Given the description of an element on the screen output the (x, y) to click on. 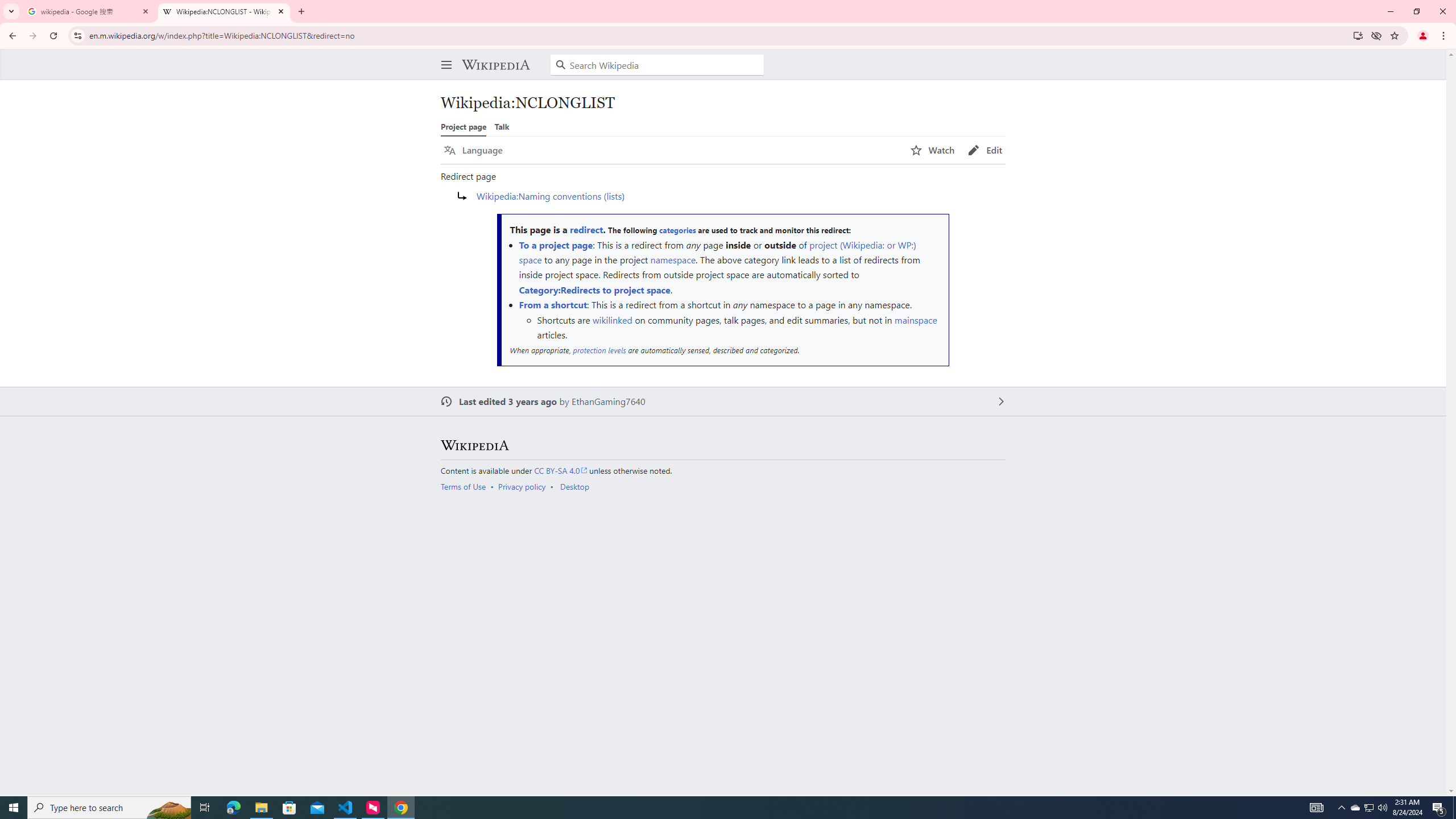
AutomationID: page-actions-edit (984, 150)
Category:Redirects to project space (594, 289)
AutomationID: language-selector (670, 150)
AutomationID: main-menu-input (443, 55)
AutomationID: footer-info-copyright (720, 470)
mainspace (915, 319)
Wikipedia (474, 445)
Privacy policy (521, 486)
Last edited 3 years ago by EthanGaming7640 (722, 401)
Search Wikipedia (657, 64)
project (Wikipedia: or WP:) space (716, 251)
